Given the description of an element on the screen output the (x, y) to click on. 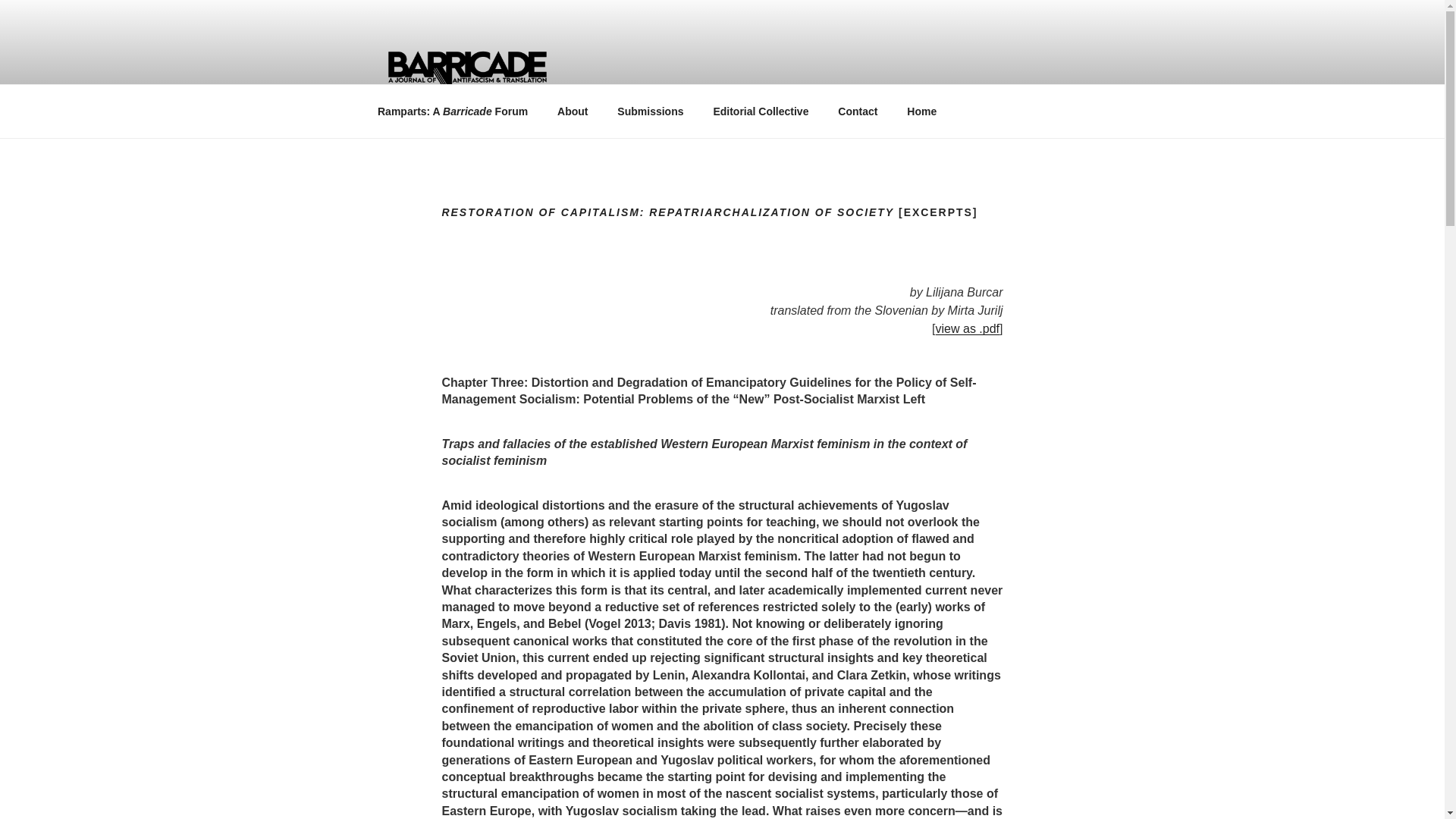
view as .pdf (967, 328)
Ramparts: A Barricade Forum (452, 110)
Editorial Collective (761, 110)
Home (921, 110)
Contact (858, 110)
BARRICADE (470, 119)
Submissions (650, 110)
About (572, 110)
